Given the description of an element on the screen output the (x, y) to click on. 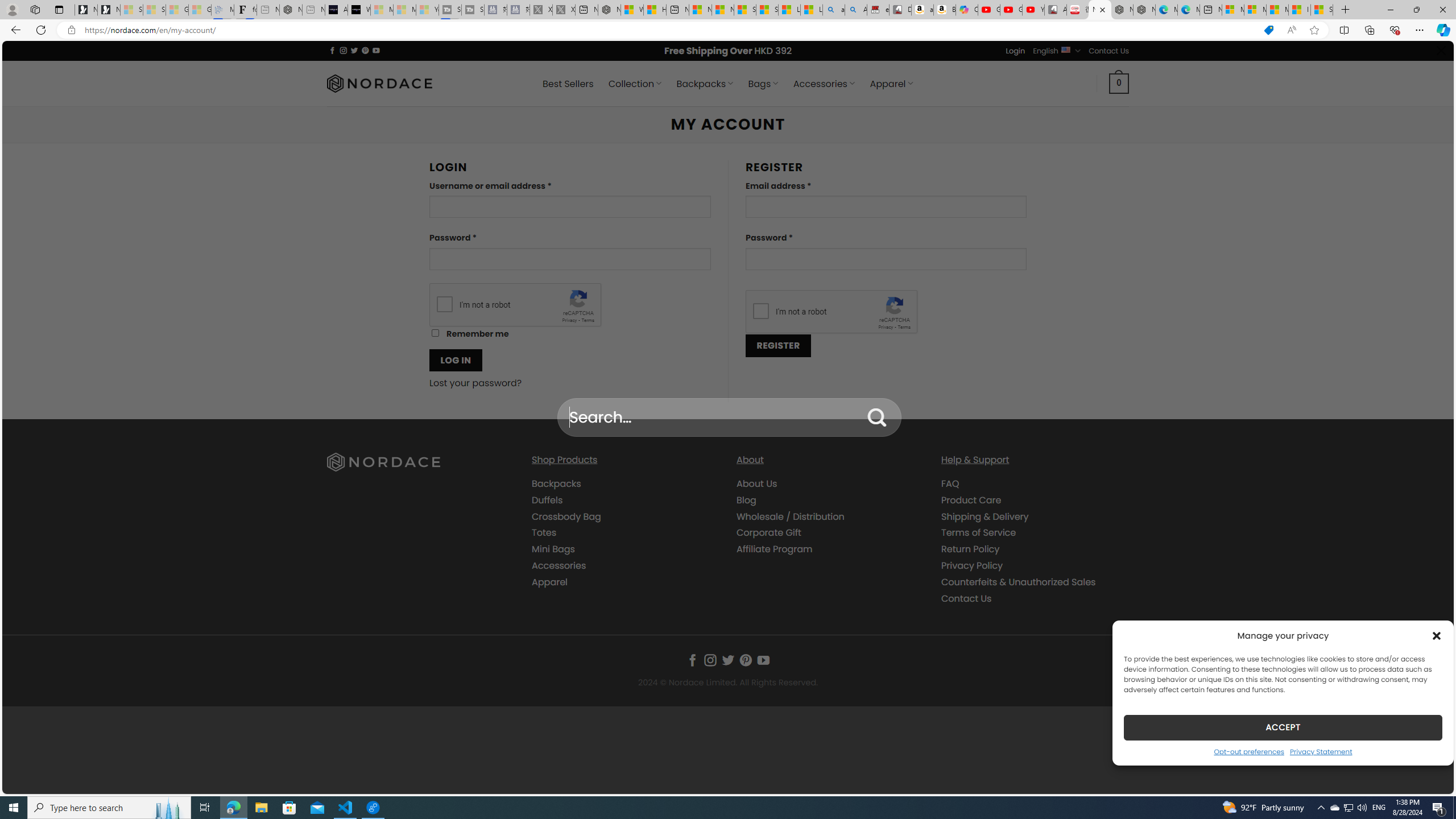
Counterfeits & Unauthorized Sales (1034, 581)
Terms of Service (978, 532)
Mini Bags (625, 549)
YouTube Kids - An App Created for Kids to Explore Content (1033, 9)
Streaming Coverage | T3 - Sleeping (449, 9)
About Us (830, 483)
Follow on Pinterest (745, 659)
FAQ (949, 483)
Opt-out preferences (1249, 750)
